Given the description of an element on the screen output the (x, y) to click on. 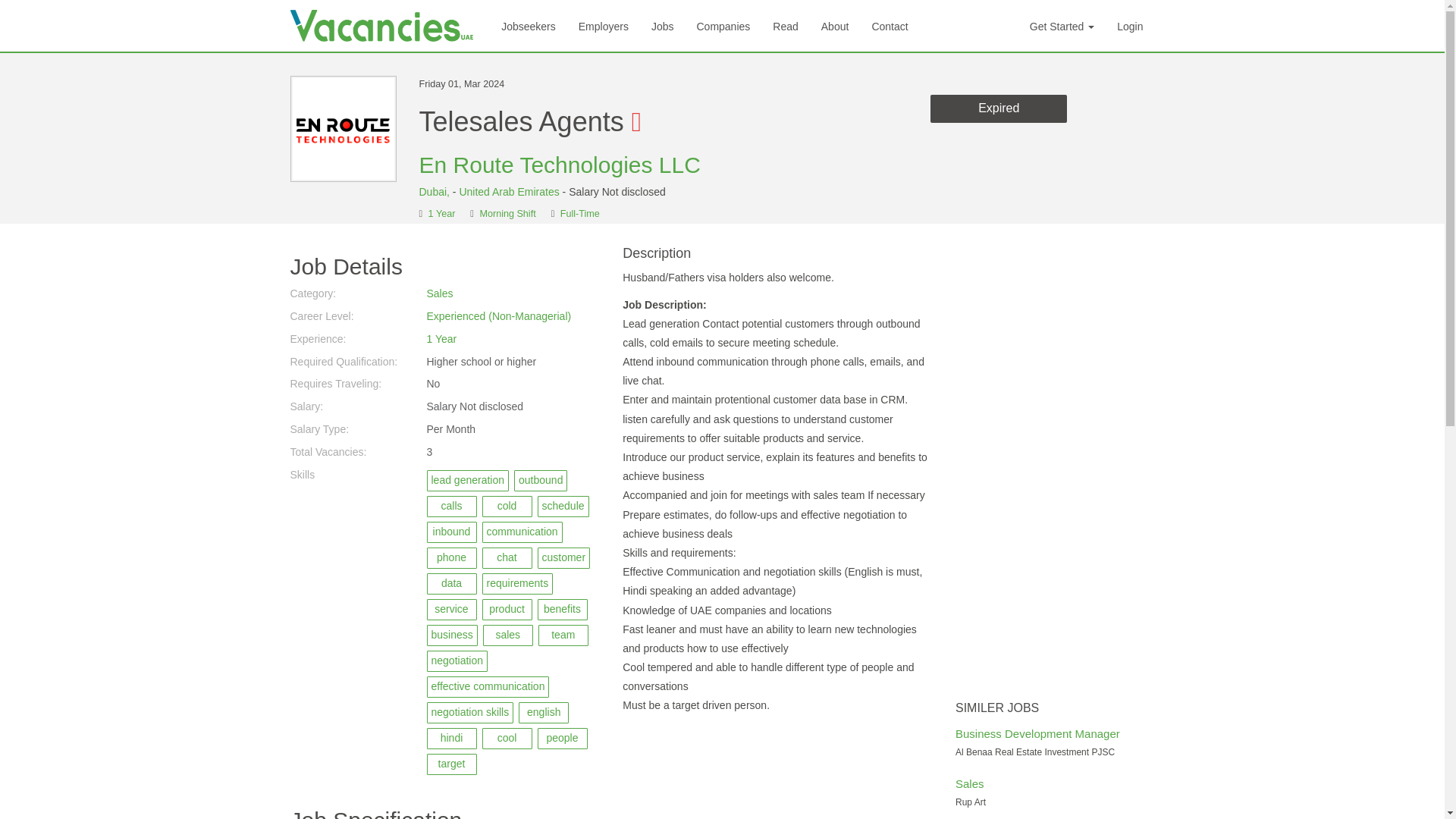
Sales (969, 783)
Morning Shift (507, 213)
Companies (722, 26)
Login (1129, 26)
En Route Technologies LLC (559, 164)
Get Started (1061, 26)
Employers (603, 26)
United Arab Emirates (508, 191)
Contact (889, 26)
Read (785, 26)
Jobseekers (528, 26)
Expired (998, 108)
Dubai, (435, 191)
Sales (439, 293)
Jobs (662, 26)
